Given the description of an element on the screen output the (x, y) to click on. 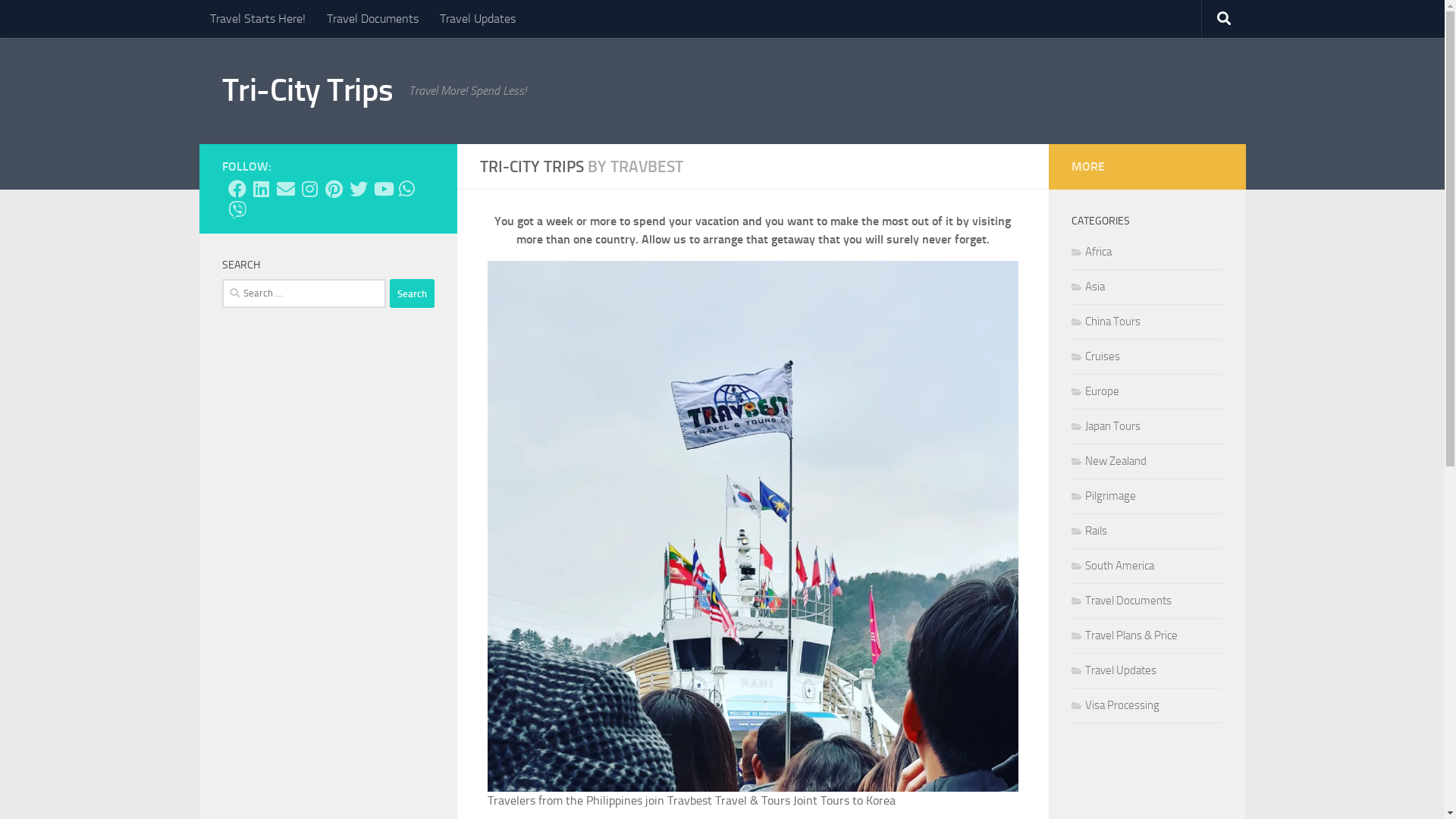
China Tours Element type: text (1104, 321)
Follow us on Twitter Element type: hover (357, 188)
Follow us on Facebook Element type: hover (236, 188)
Travel Documents Element type: text (1120, 600)
Search Element type: text (411, 293)
Europe Element type: text (1094, 391)
Travel Documents Element type: text (371, 18)
Skip to content Element type: text (60, 21)
Africa Element type: text (1090, 251)
Asia Element type: text (1087, 286)
Cruises Element type: text (1094, 356)
Pin our Pinterest Element type: hover (333, 188)
Tri-City Trips Element type: text (306, 90)
New Zealand Element type: text (1107, 460)
Travel Updates Element type: text (1112, 670)
Pilgrimage Element type: text (1102, 495)
Follow us on Whatsapp Element type: hover (406, 188)
Visa Processing Element type: text (1114, 705)
South America Element type: text (1111, 565)
Follow us on Linkedin Element type: hover (260, 188)
Travel Updates Element type: text (477, 18)
Follow us on Viber Element type: hover (236, 209)
Rails Element type: text (1088, 530)
Email Us Element type: hover (285, 188)
Travel Plans & Price Element type: text (1123, 635)
Japan Tours Element type: text (1104, 426)
Travel Starts Here! Element type: text (256, 18)
Follow us on Youtube Element type: hover (382, 188)
Follow us on Instagram Element type: hover (309, 188)
